Given the description of an element on the screen output the (x, y) to click on. 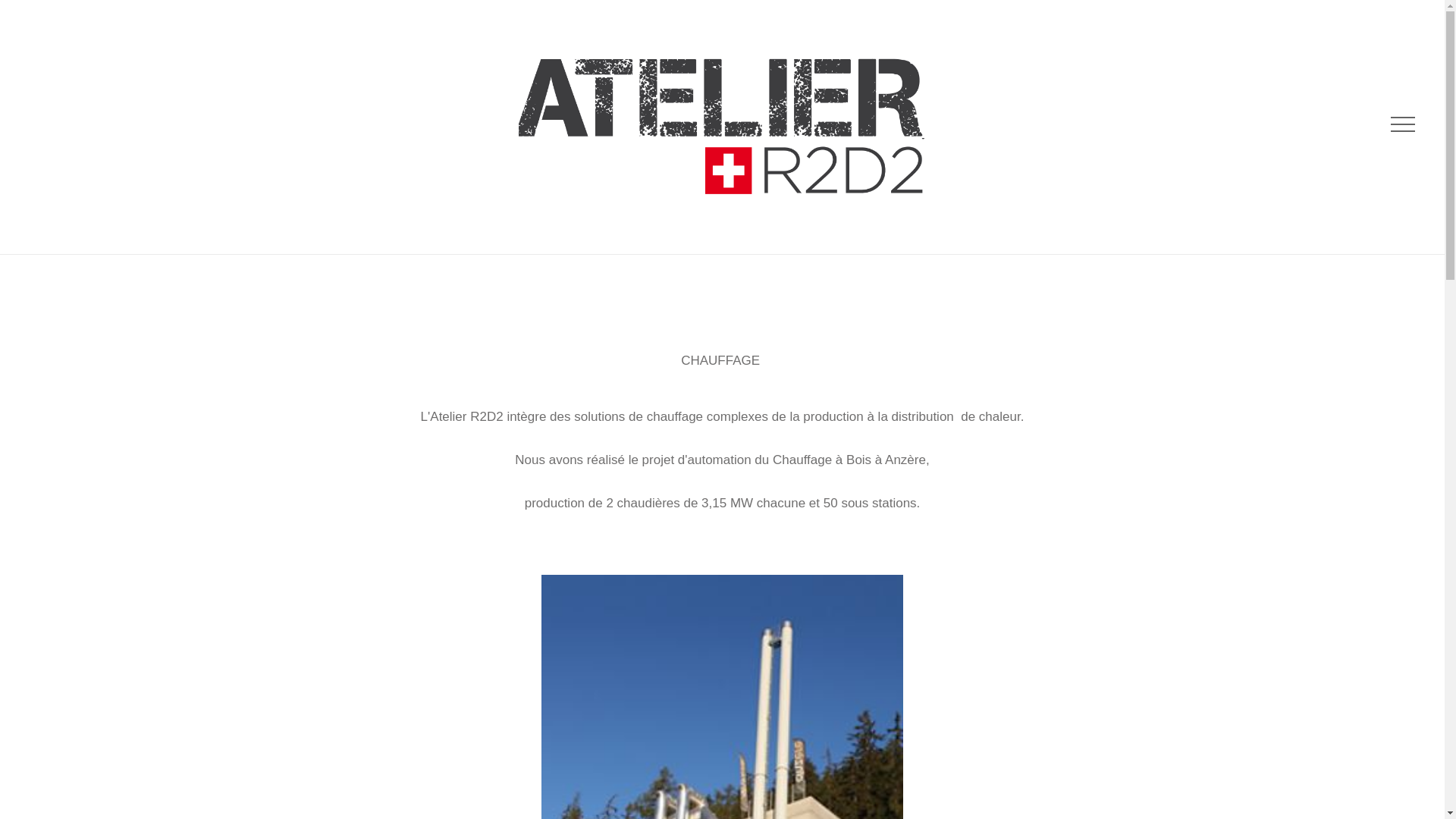
MENU Element type: text (1400, 125)
logo Element type: hover (722, 122)
